Given the description of an element on the screen output the (x, y) to click on. 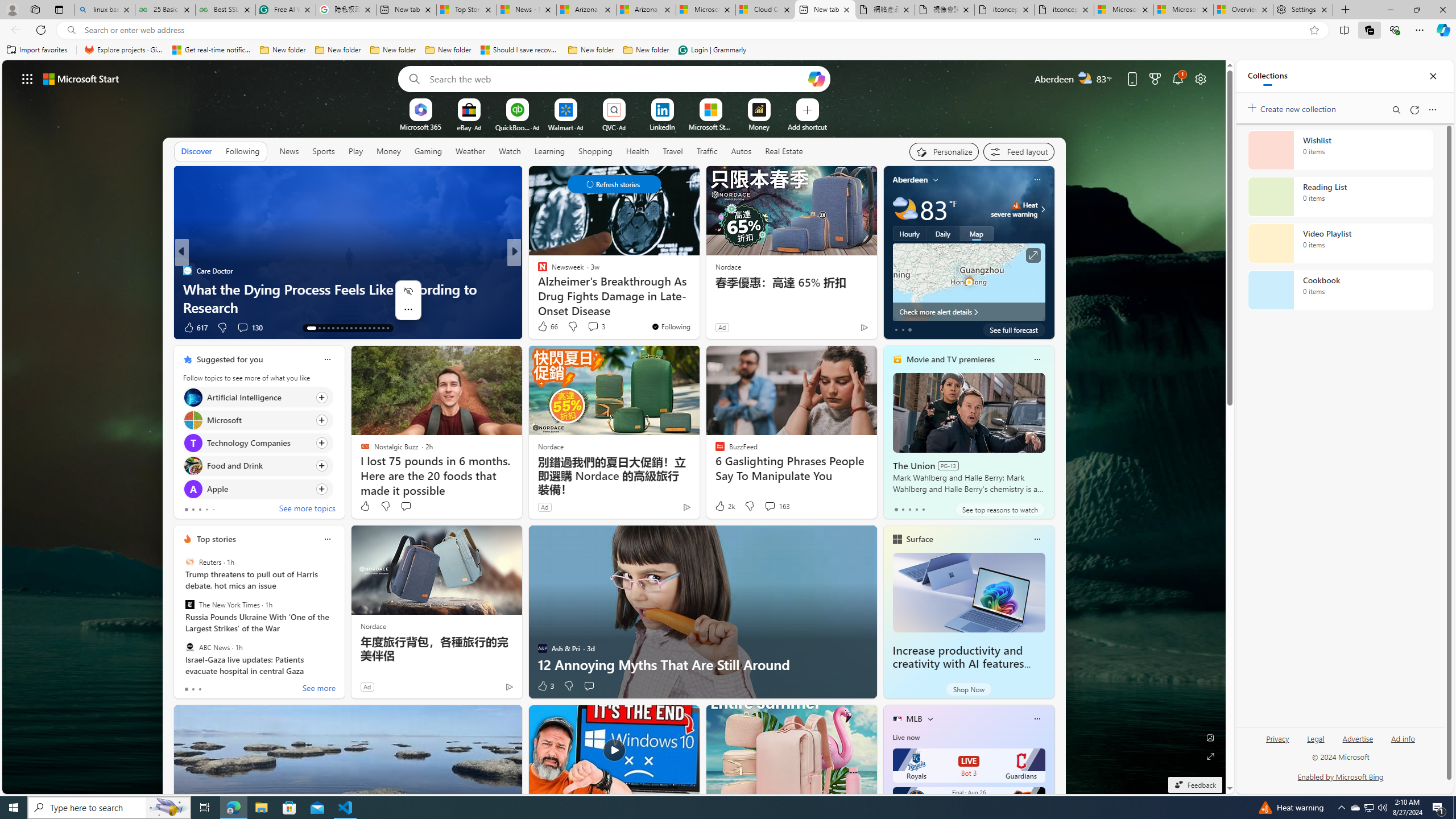
AutomationID: tab-13 (307, 328)
Microsoft start (81, 78)
Class: control (613, 184)
Learning (549, 151)
TODAY (537, 270)
34 Like (543, 327)
7 Like (541, 327)
Royals LIVE Bot 3 Guardians (968, 765)
AutomationID: tab-20 (346, 328)
